Given the description of an element on the screen output the (x, y) to click on. 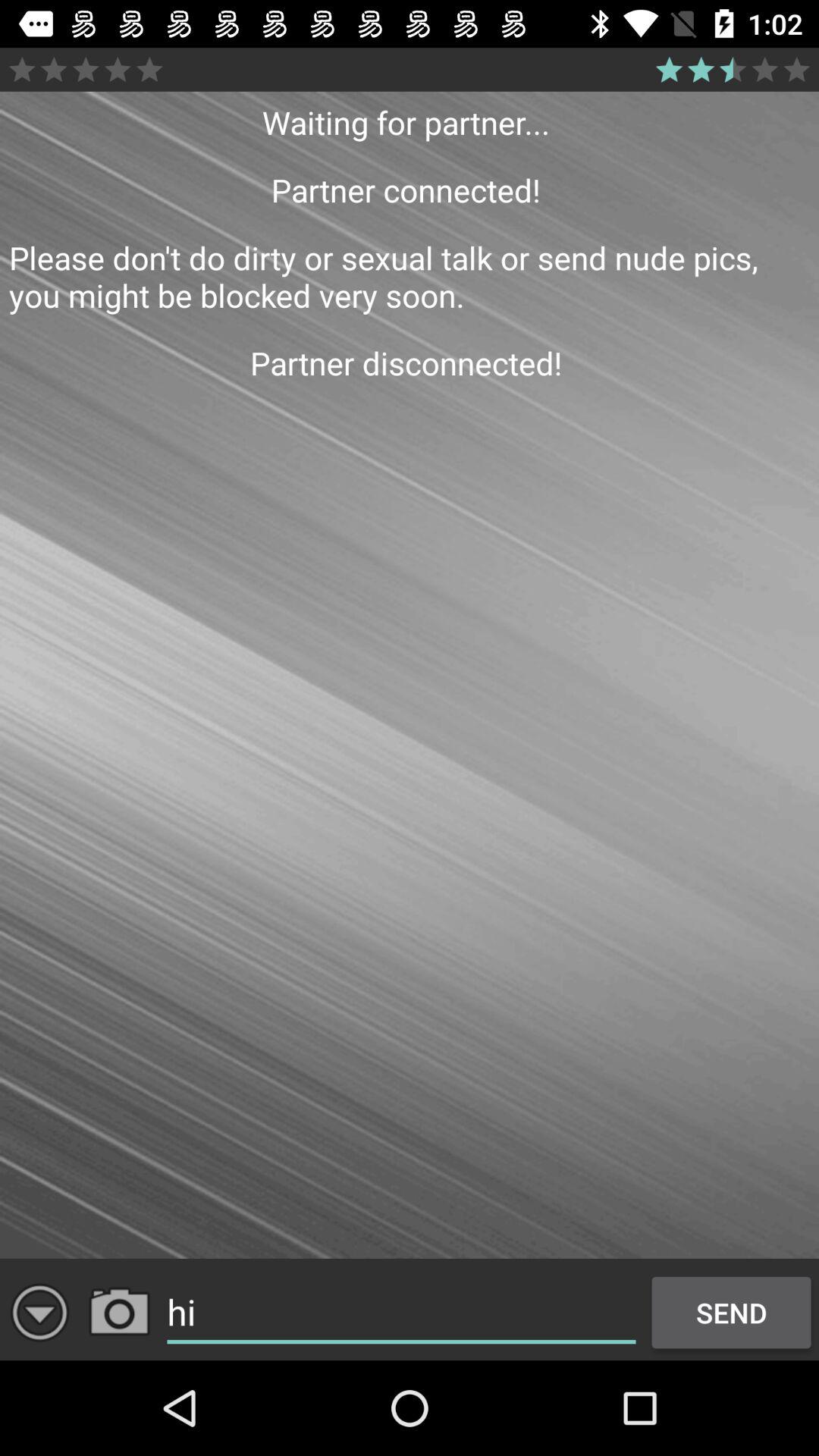
go to cemara (119, 1312)
